Given the description of an element on the screen output the (x, y) to click on. 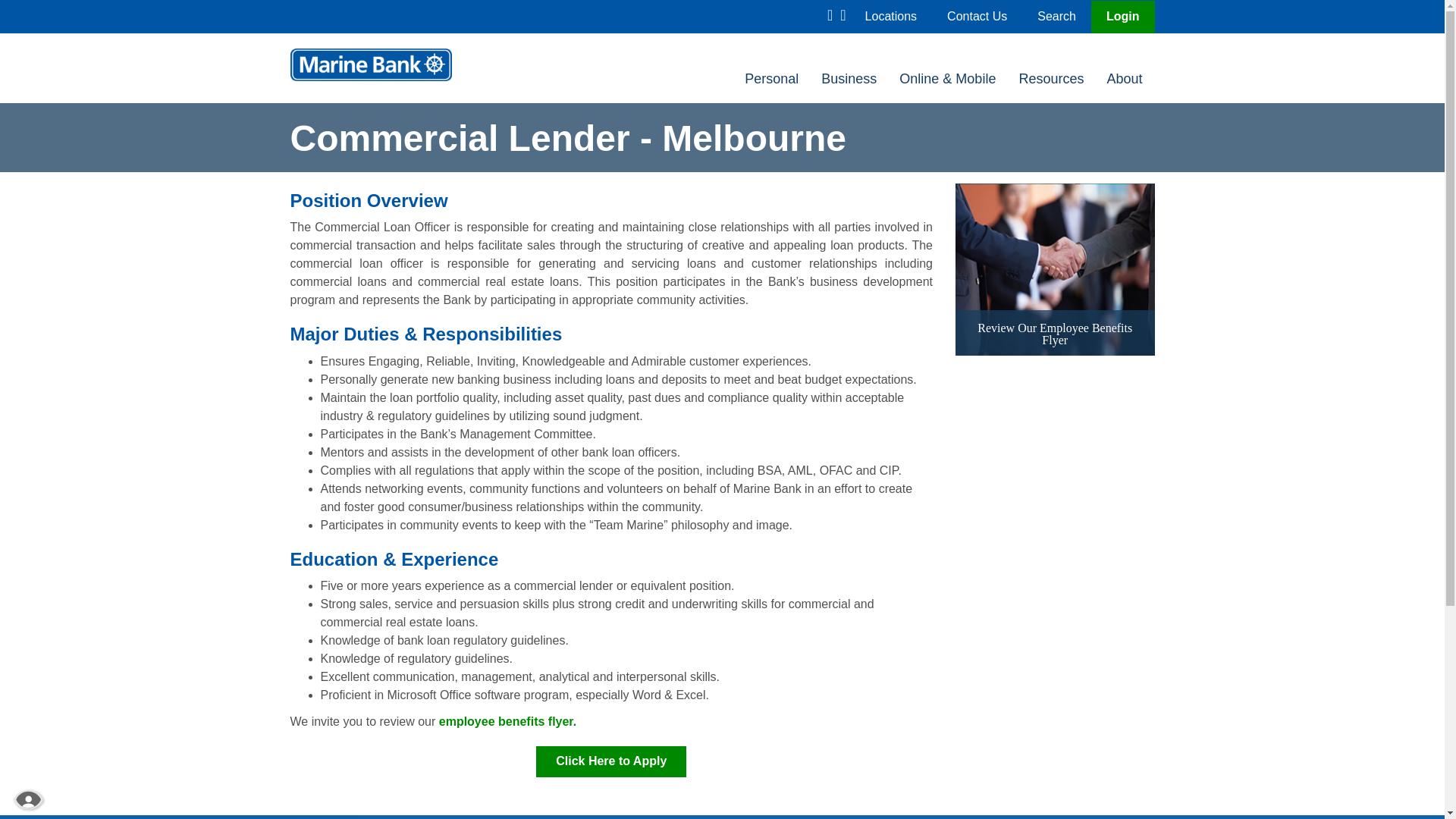
Locations (890, 15)
Marine Bank and Trust, Vero Beach, FL (370, 64)
Contact Us (977, 15)
